Given the description of an element on the screen output the (x, y) to click on. 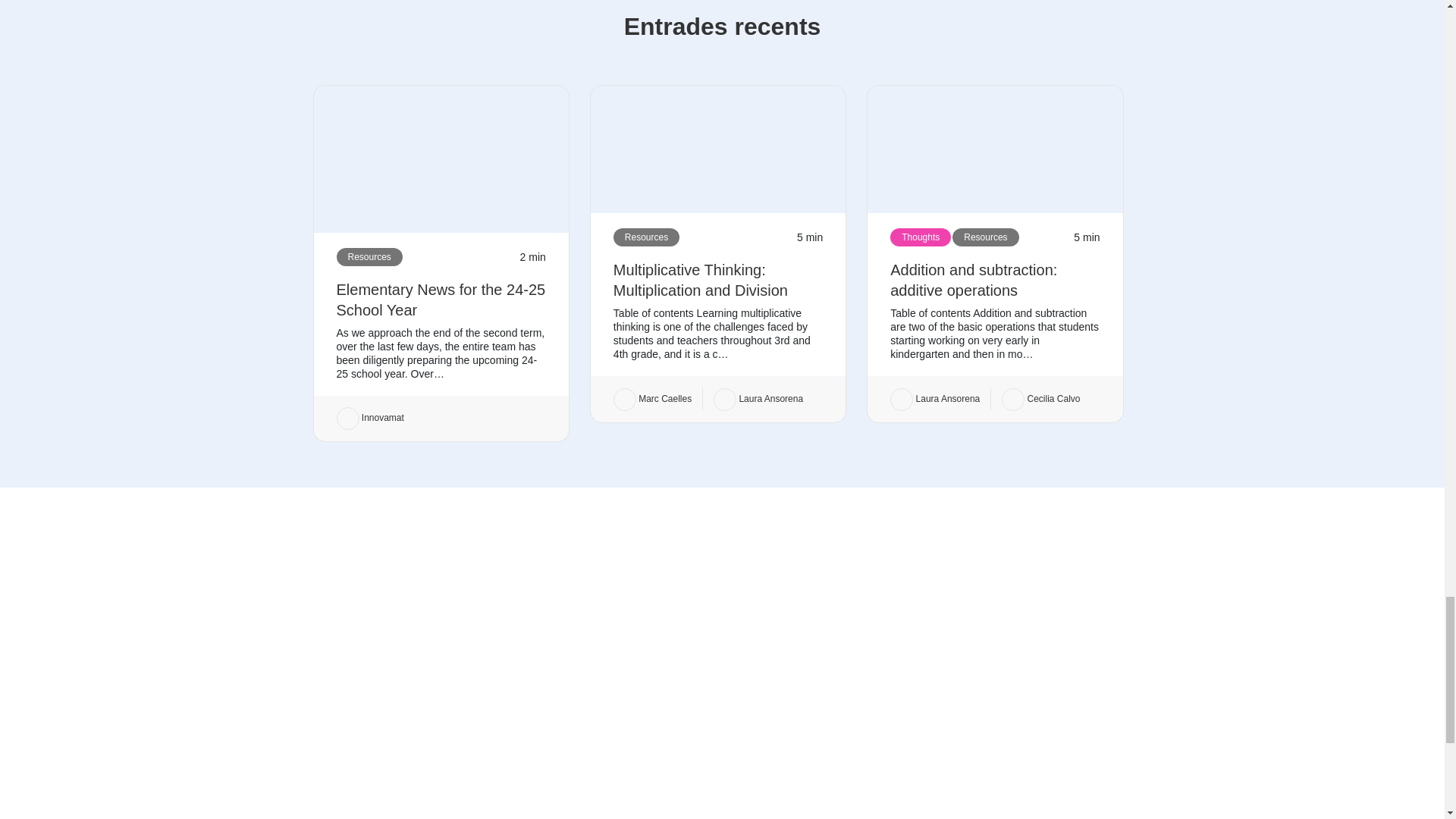
Laura Ansorena (934, 398)
Cecilia Calvo (1040, 398)
Laura Ansorena (758, 398)
Innovamat (370, 417)
Marc Caelles (651, 398)
